Given the description of an element on the screen output the (x, y) to click on. 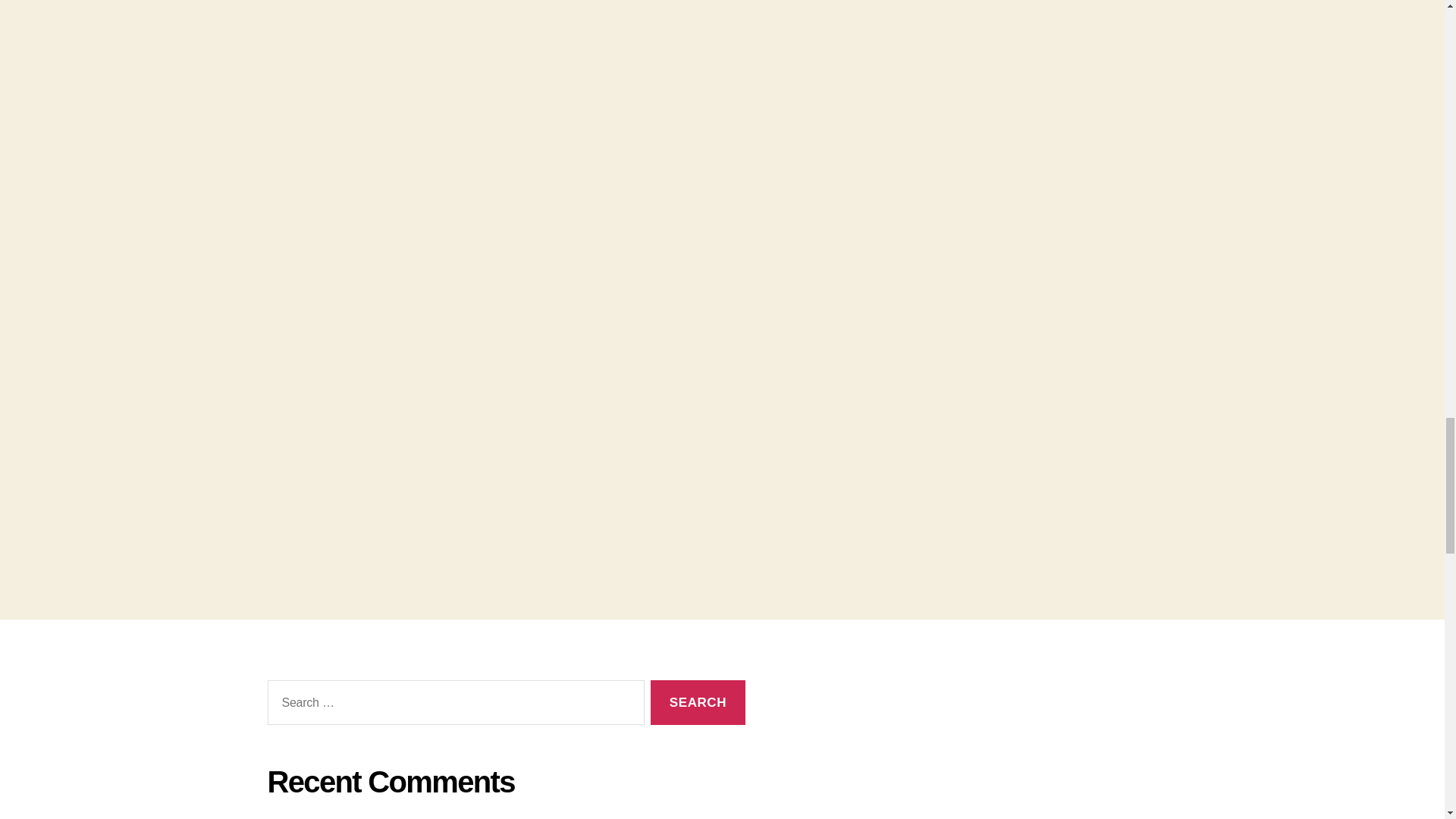
Search (697, 702)
Search (697, 702)
